Given the description of an element on the screen output the (x, y) to click on. 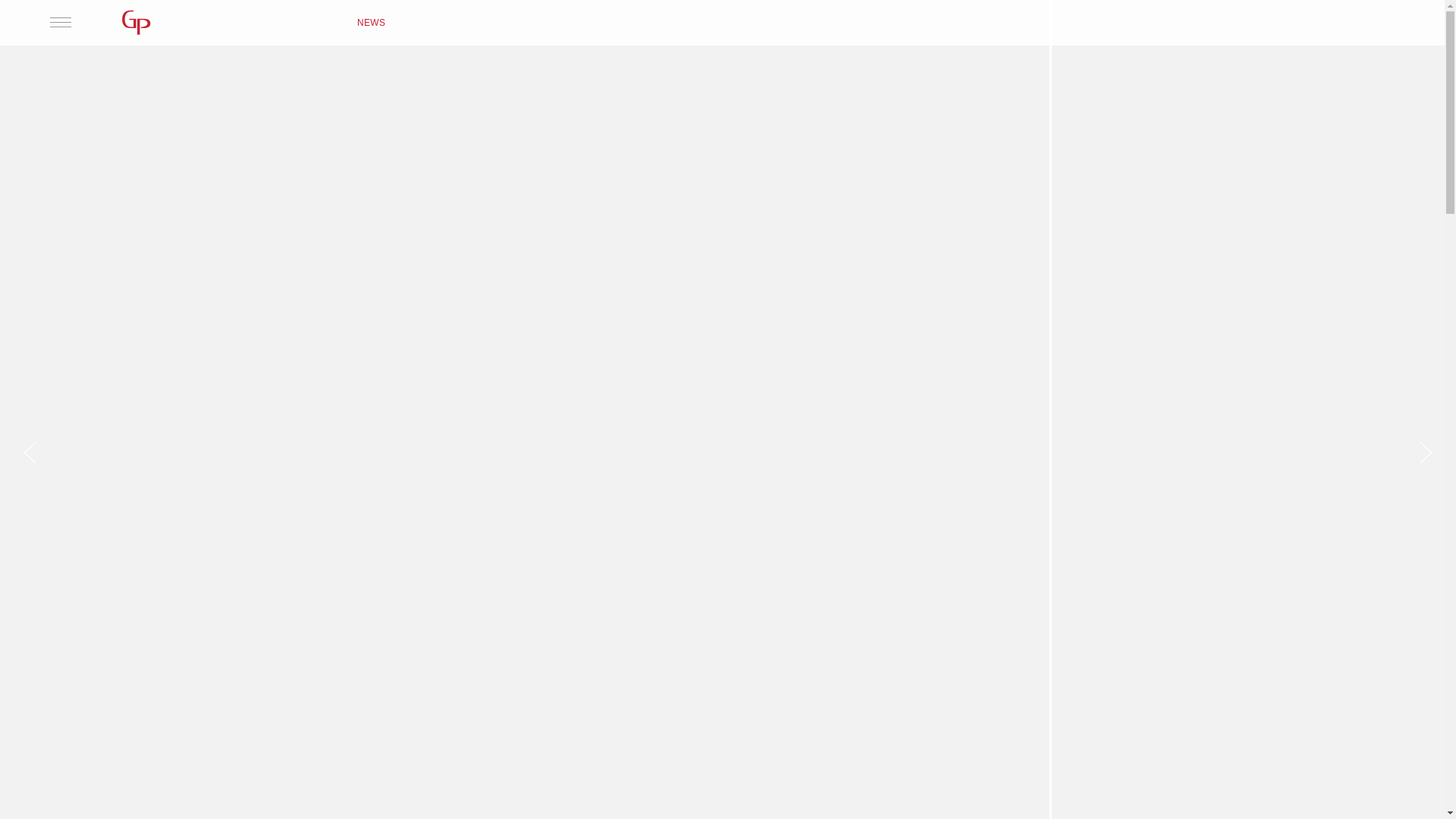
NEWS (371, 22)
